Given the description of an element on the screen output the (x, y) to click on. 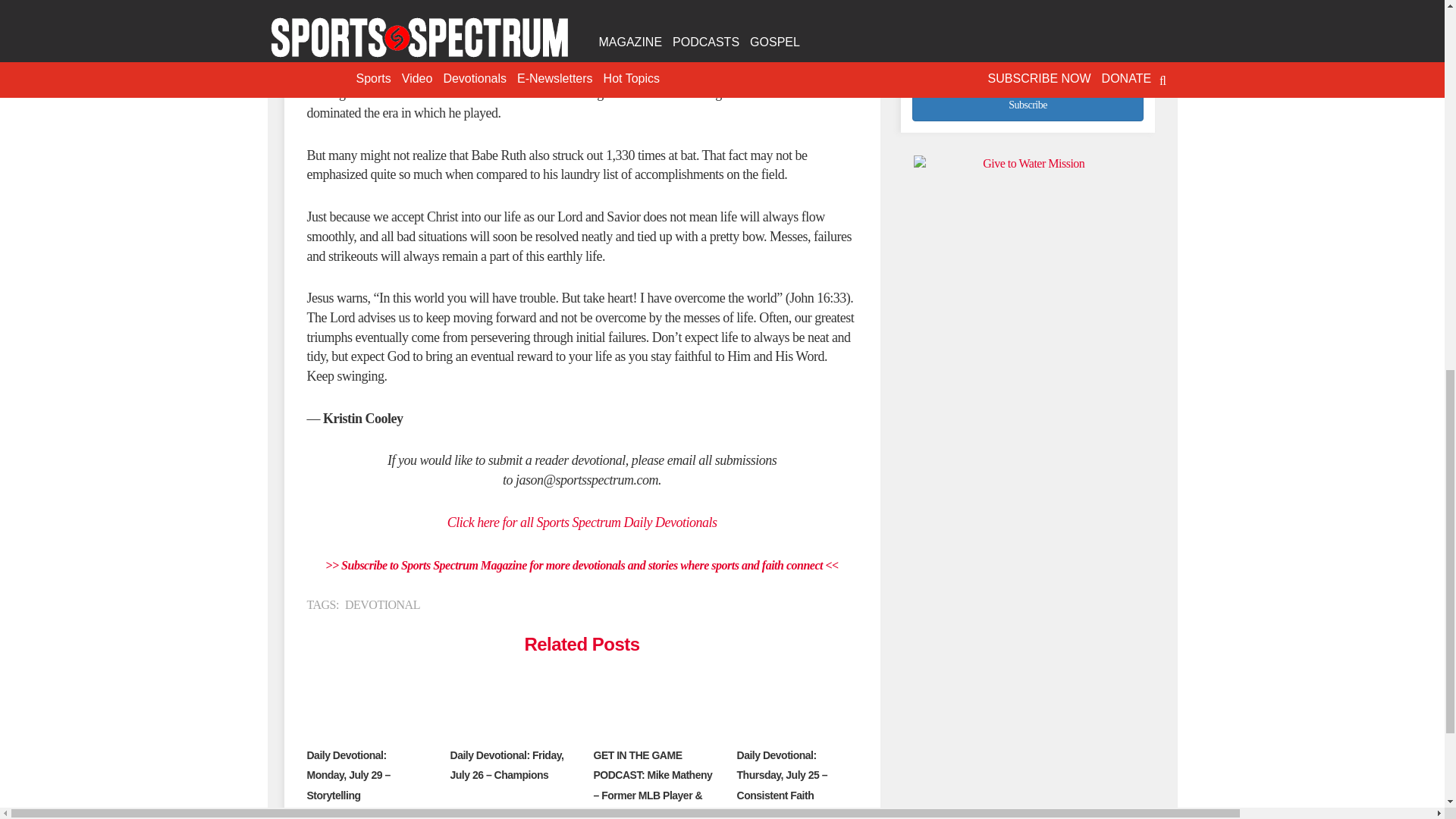
International Phone Number (1027, 52)
DEVOTIONAL (382, 604)
Click here for all Sports Spectrum Daily Devotionals (581, 522)
